Given the description of an element on the screen output the (x, y) to click on. 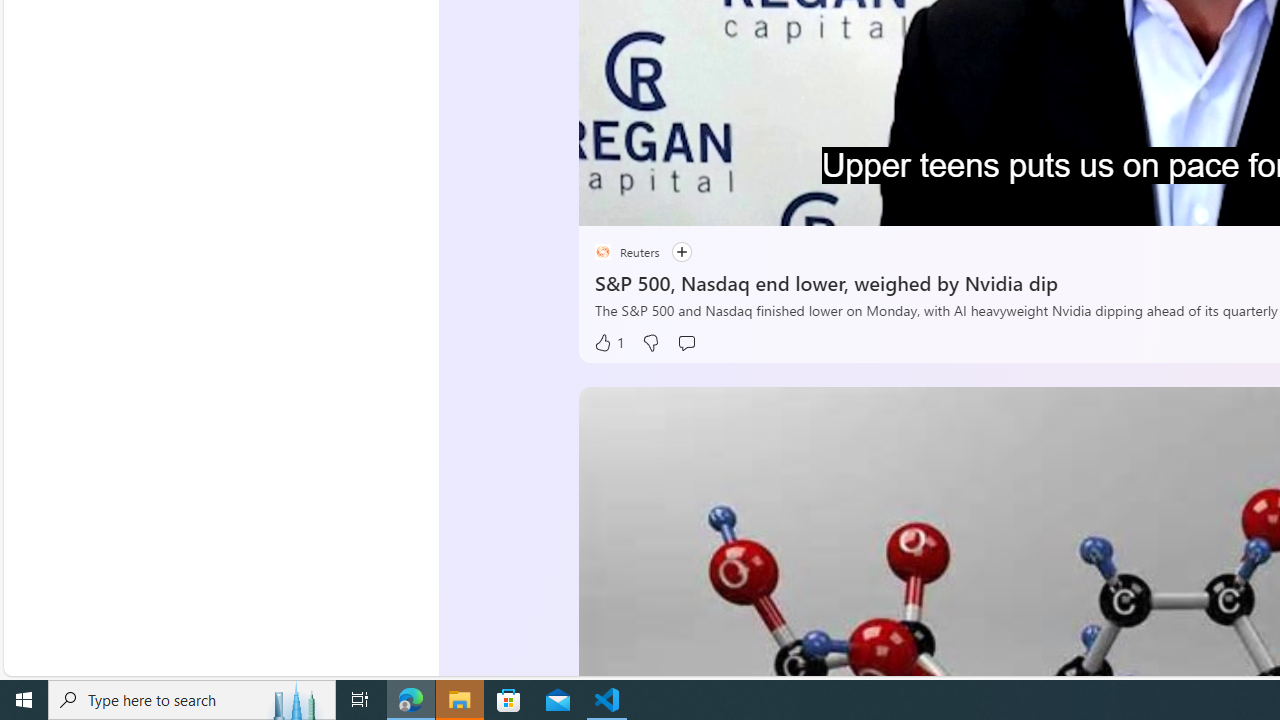
Seek Forward (688, 203)
Follow (680, 251)
Pause (607, 203)
placeholder Reuters (626, 252)
1 Like (608, 343)
Seek Back (648, 203)
placeholder (601, 252)
